Given the description of an element on the screen output the (x, y) to click on. 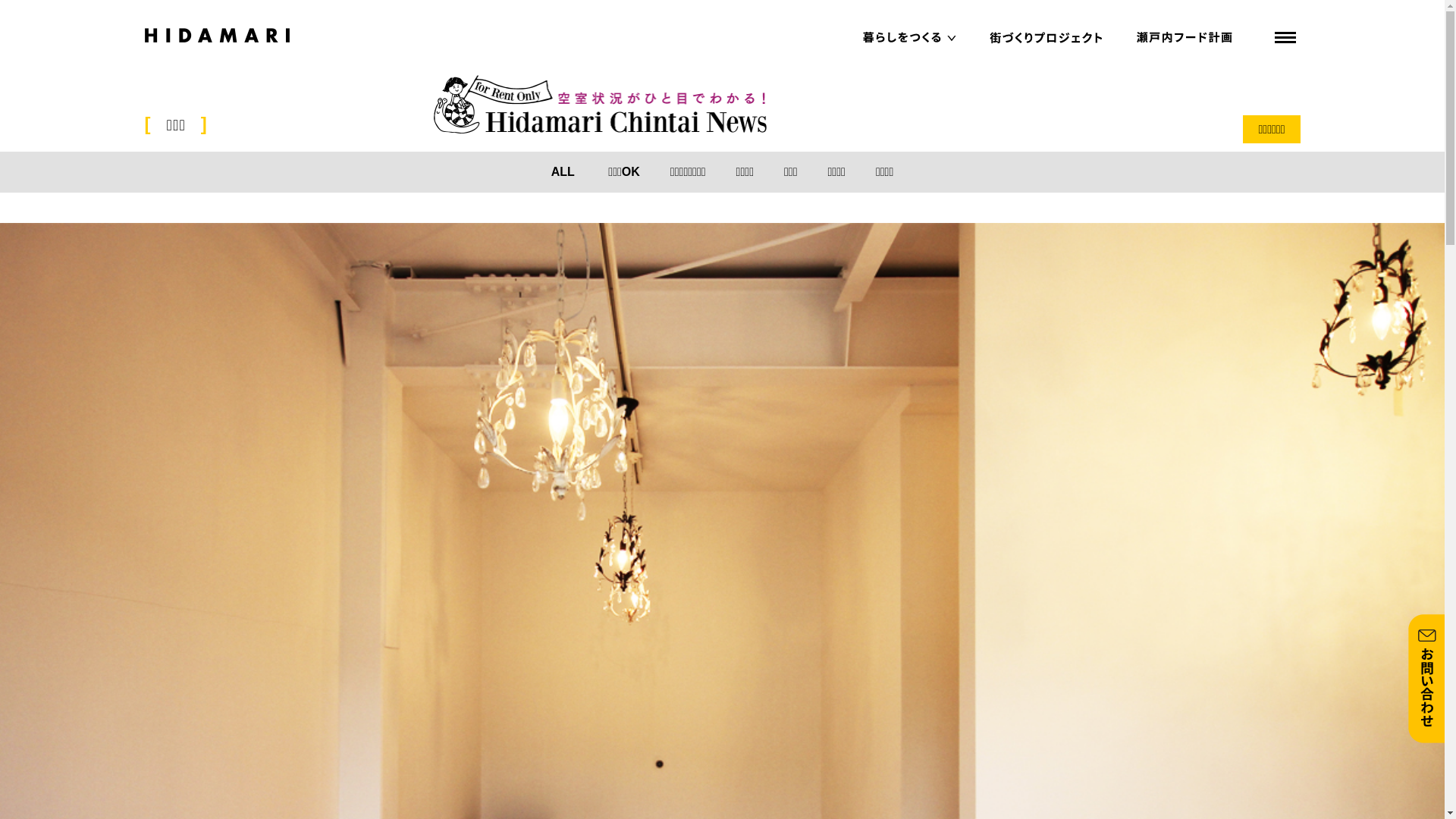
ALL Element type: text (562, 171)
